Given the description of an element on the screen output the (x, y) to click on. 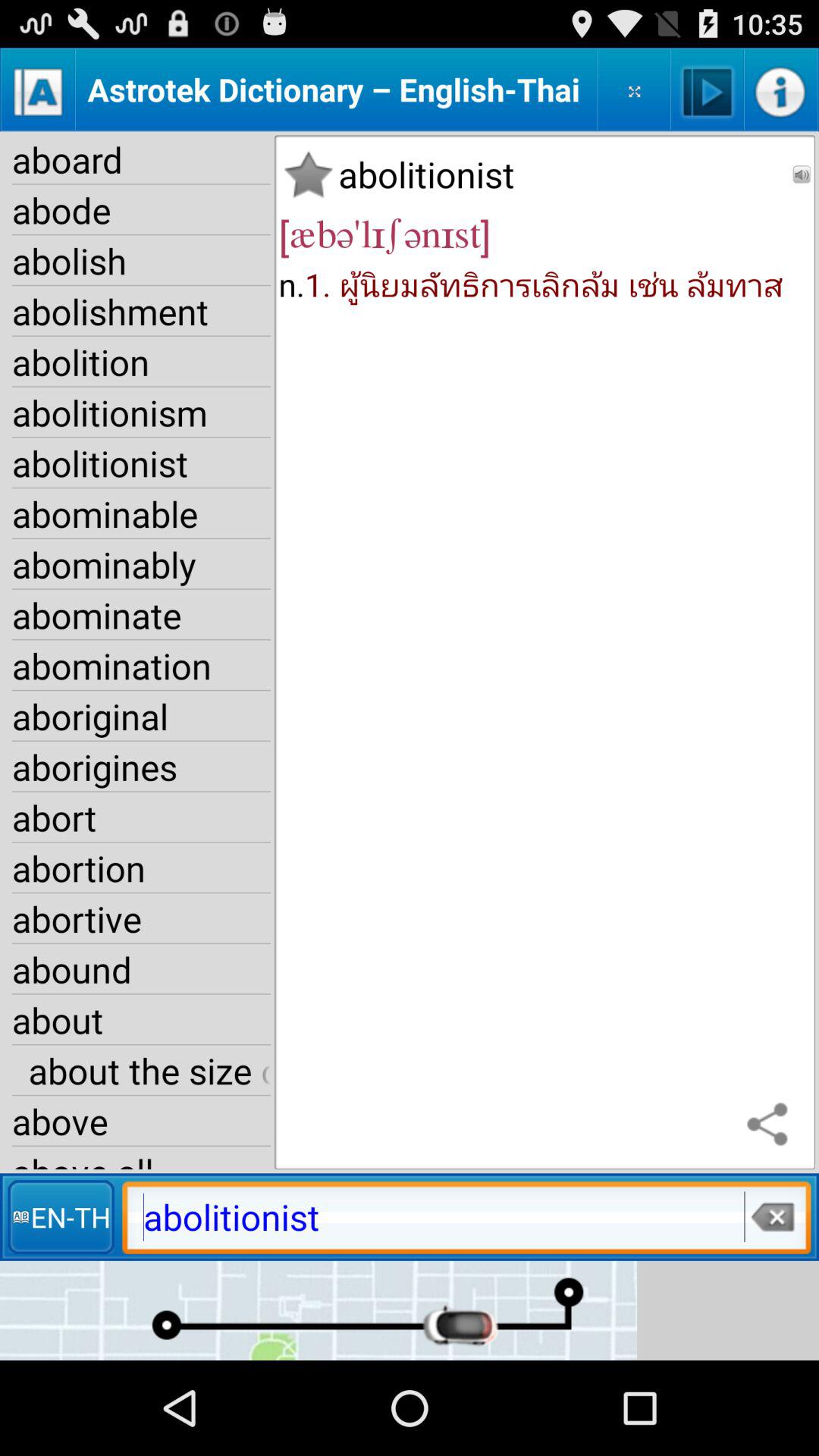
information (780, 89)
